Given the description of an element on the screen output the (x, y) to click on. 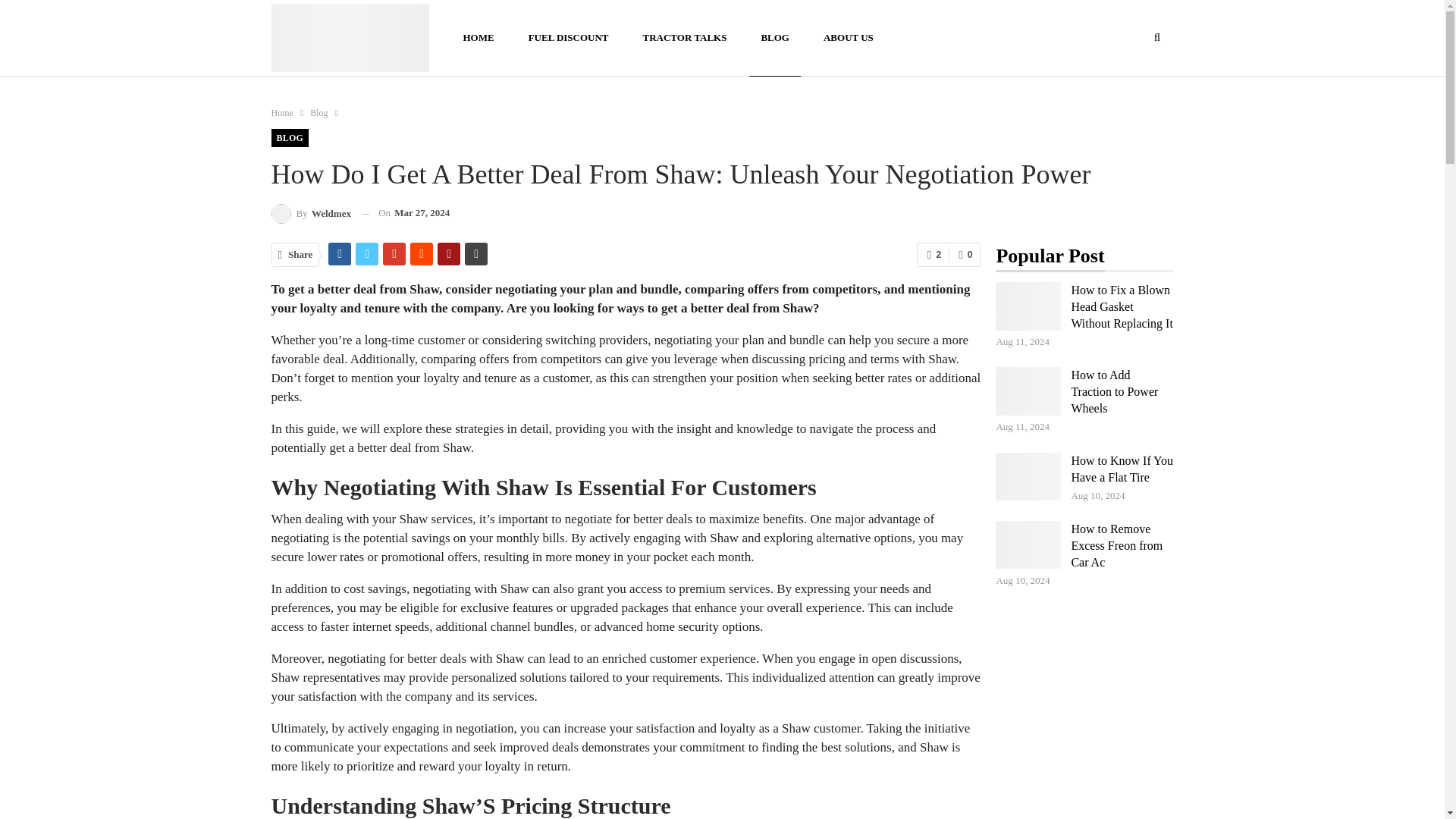
Home (282, 112)
By Weldmex (310, 213)
TRACTOR TALKS (684, 38)
0 (964, 254)
Blog (318, 112)
BLOG (289, 137)
ABOUT US (848, 38)
FUEL DISCOUNT (568, 38)
Browse Author Articles (310, 213)
